Given the description of an element on the screen output the (x, y) to click on. 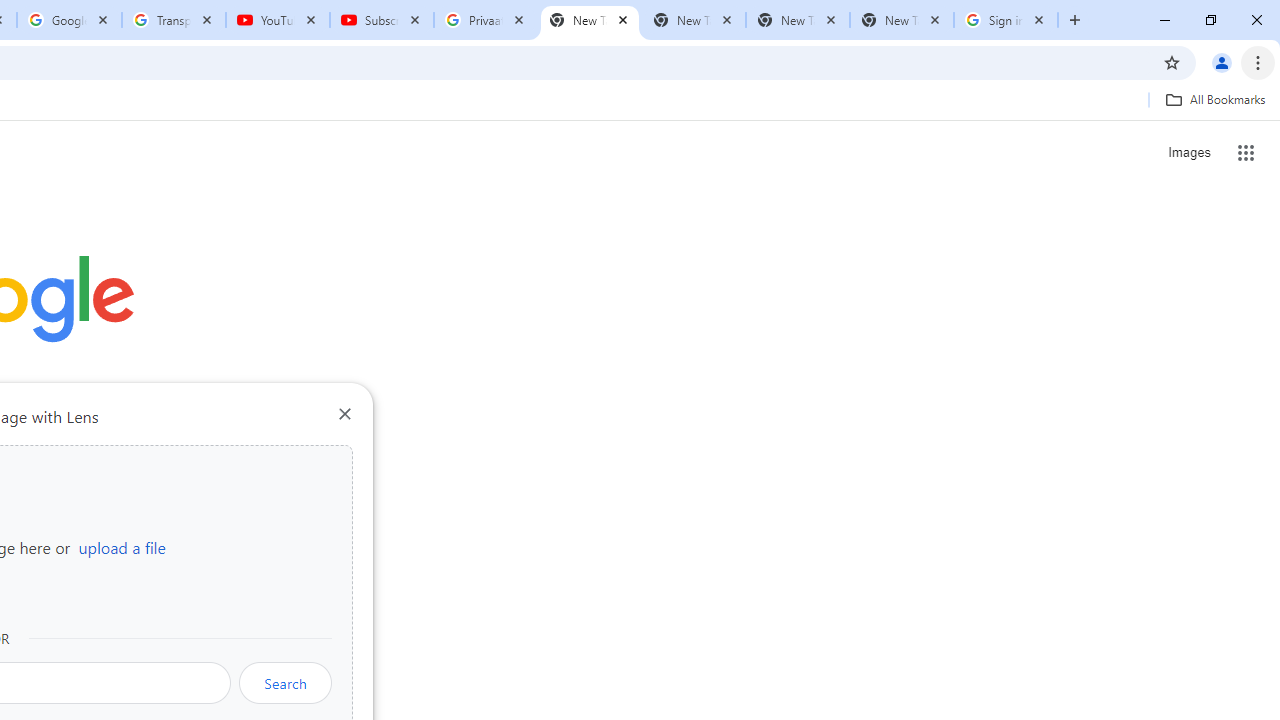
YouTube (278, 20)
Subscriptions - YouTube (381, 20)
Sign in - Google Accounts (1005, 20)
